Given the description of an element on the screen output the (x, y) to click on. 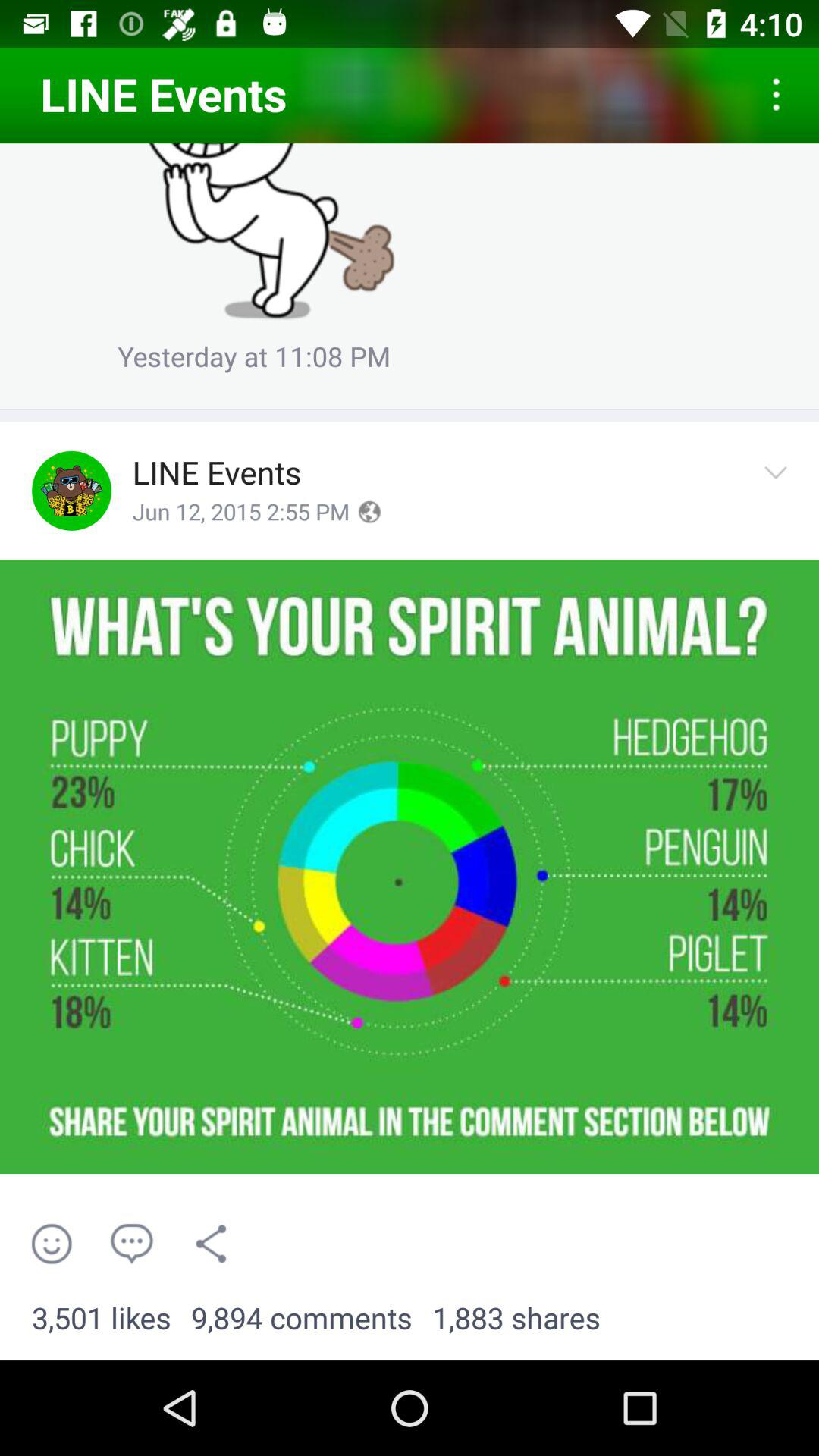
jump until the 1,883 shares item (516, 1318)
